Given the description of an element on the screen output the (x, y) to click on. 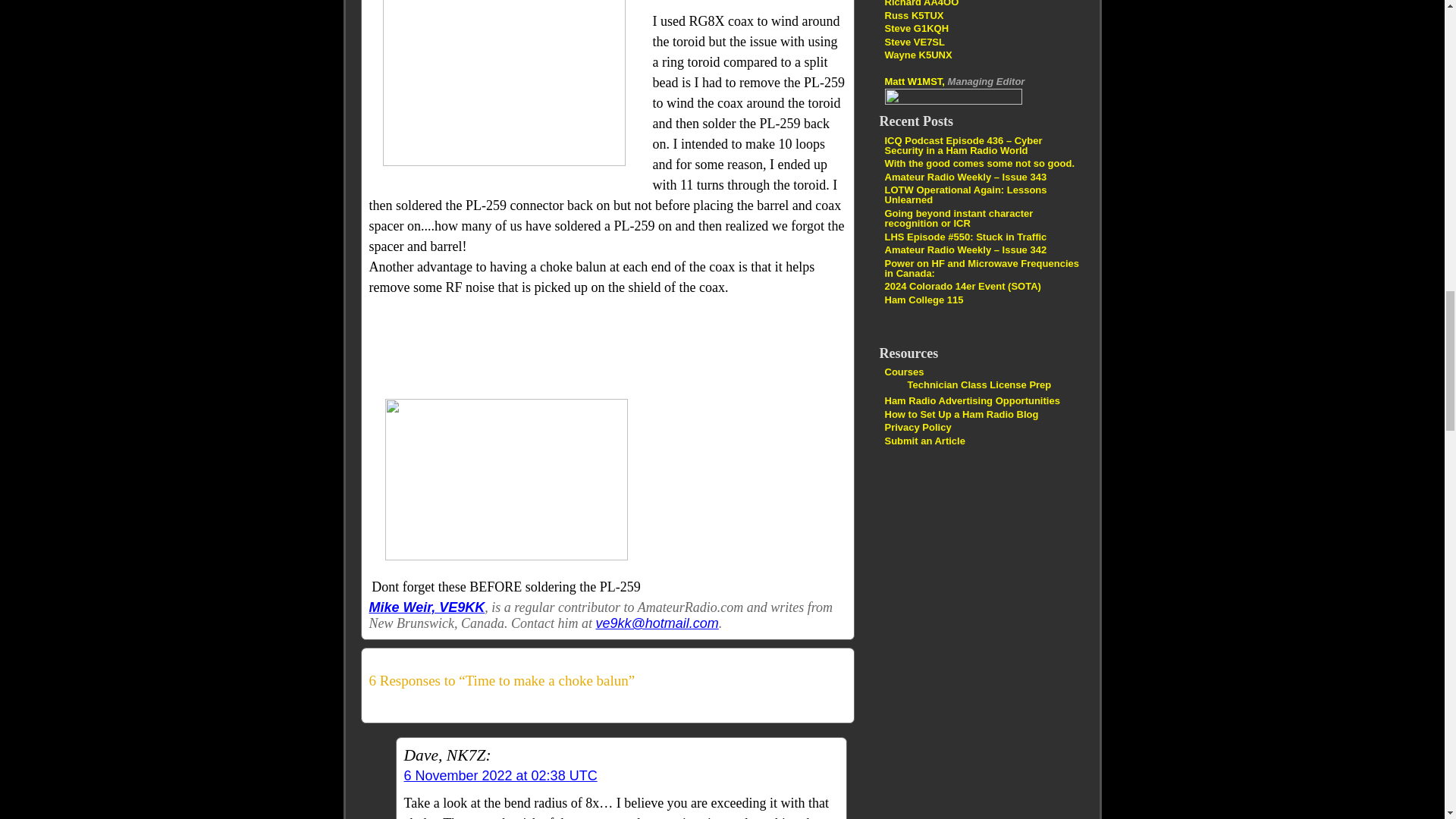
Lower your Power  Raise your Expectations (920, 3)
Mike Weir, VE9KK (426, 607)
Linux in the Ham Shack Podcast in MP3 Format (913, 14)
Homebrewing and Operating Adventures From 2200m To Nanowaves (913, 41)
6 November 2022 at 02:38 UTC (499, 775)
